Given the description of an element on the screen output the (x, y) to click on. 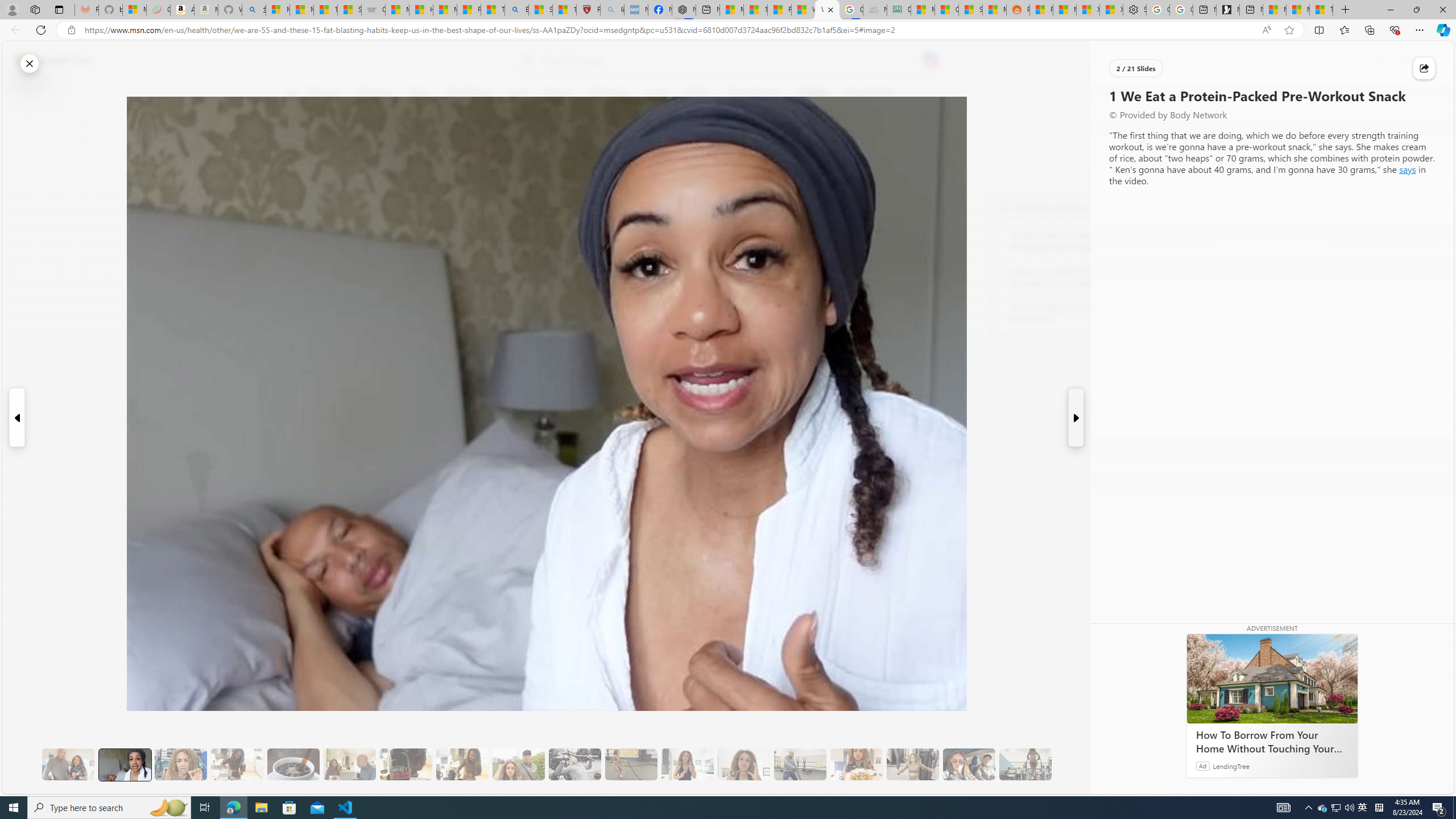
7 They Don't Skip Meals (462, 764)
14 They Have Salmon and Veggies for Dinner (855, 764)
MSN (993, 9)
Open navigation menu (292, 92)
1 We Eat a Protein-Packed Pre-Workout Snack (124, 764)
Body Network (449, 147)
World News (468, 92)
